Given the description of an element on the screen output the (x, y) to click on. 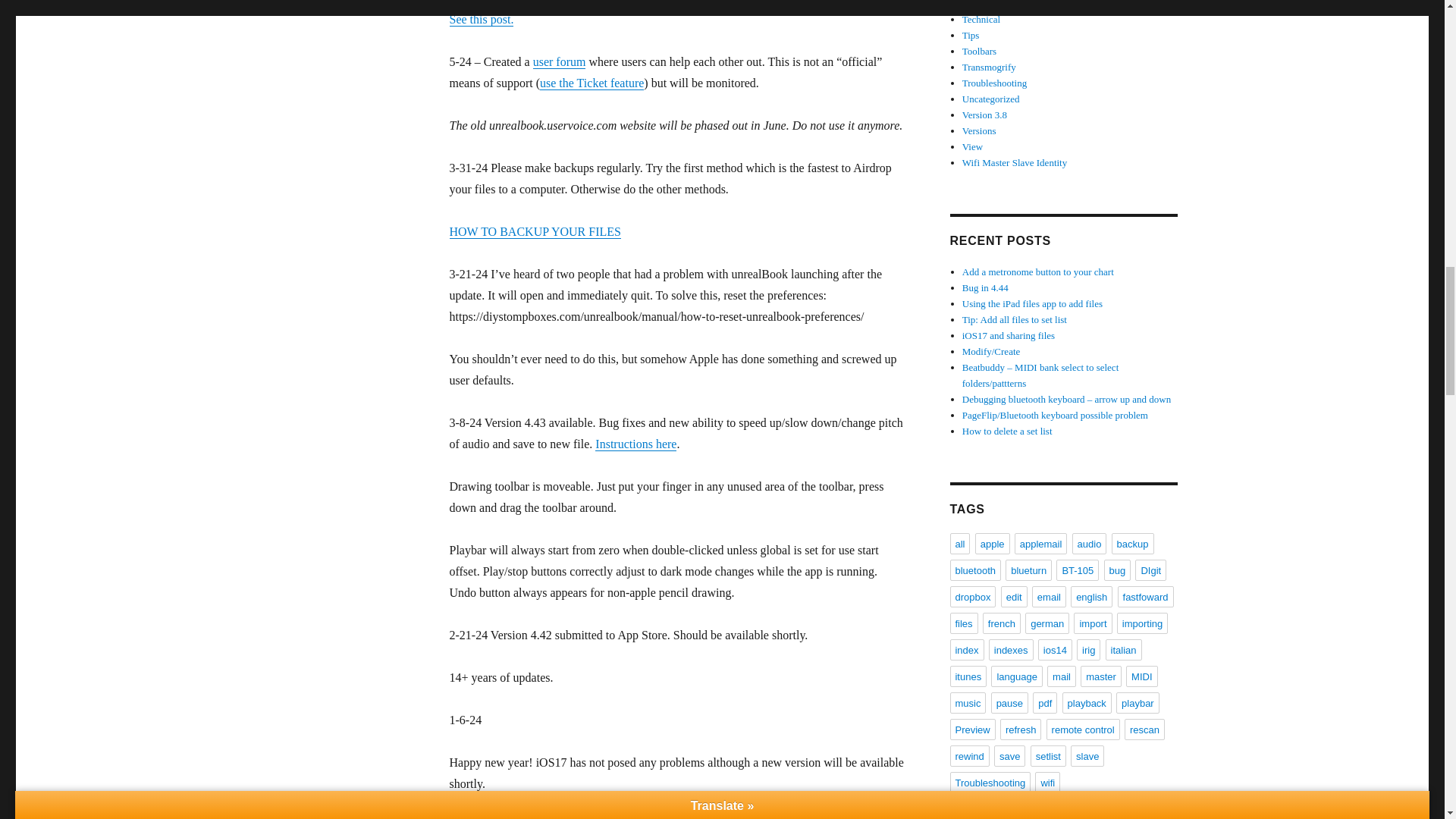
Instructions here (636, 443)
See this post. (480, 19)
user forum (559, 61)
HOW TO BACKUP YOUR FILES (534, 231)
use the Ticket feature (591, 82)
